Given the description of an element on the screen output the (x, y) to click on. 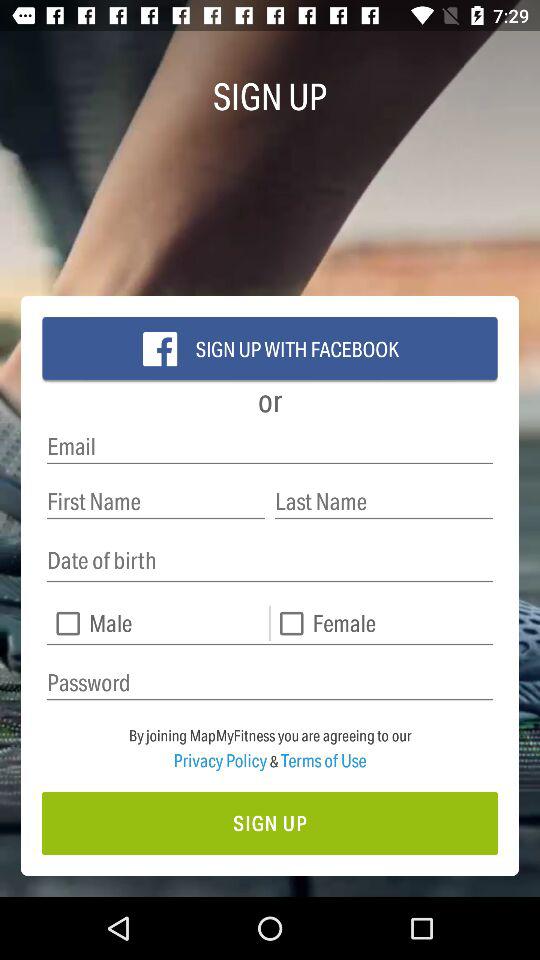
enter date of birth (270, 560)
